Given the description of an element on the screen output the (x, y) to click on. 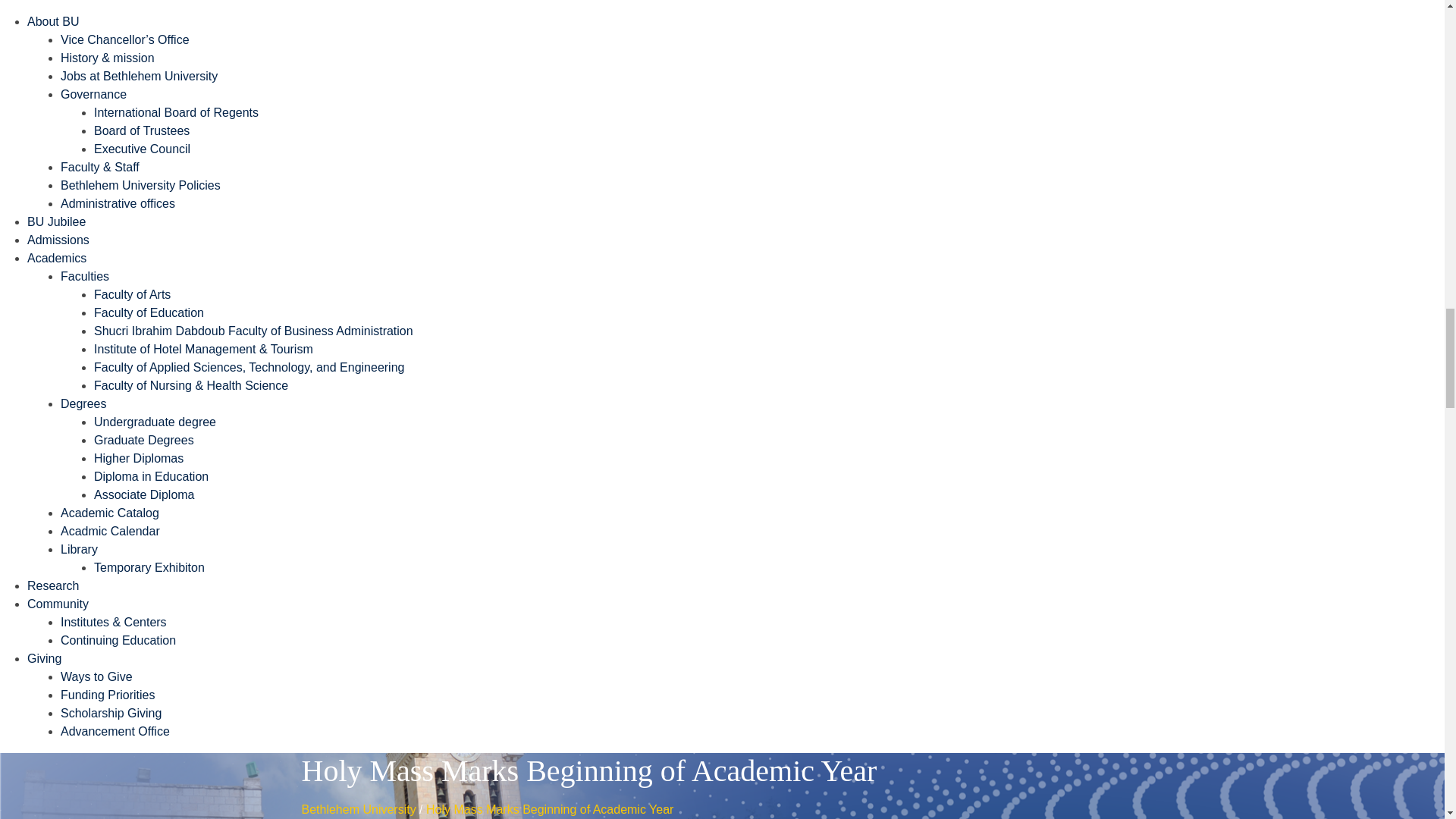
Go to Bethlehem University. (358, 809)
Go to Holy Mass Marks Beginning of Academic Year. (549, 809)
